Given the description of an element on the screen output the (x, y) to click on. 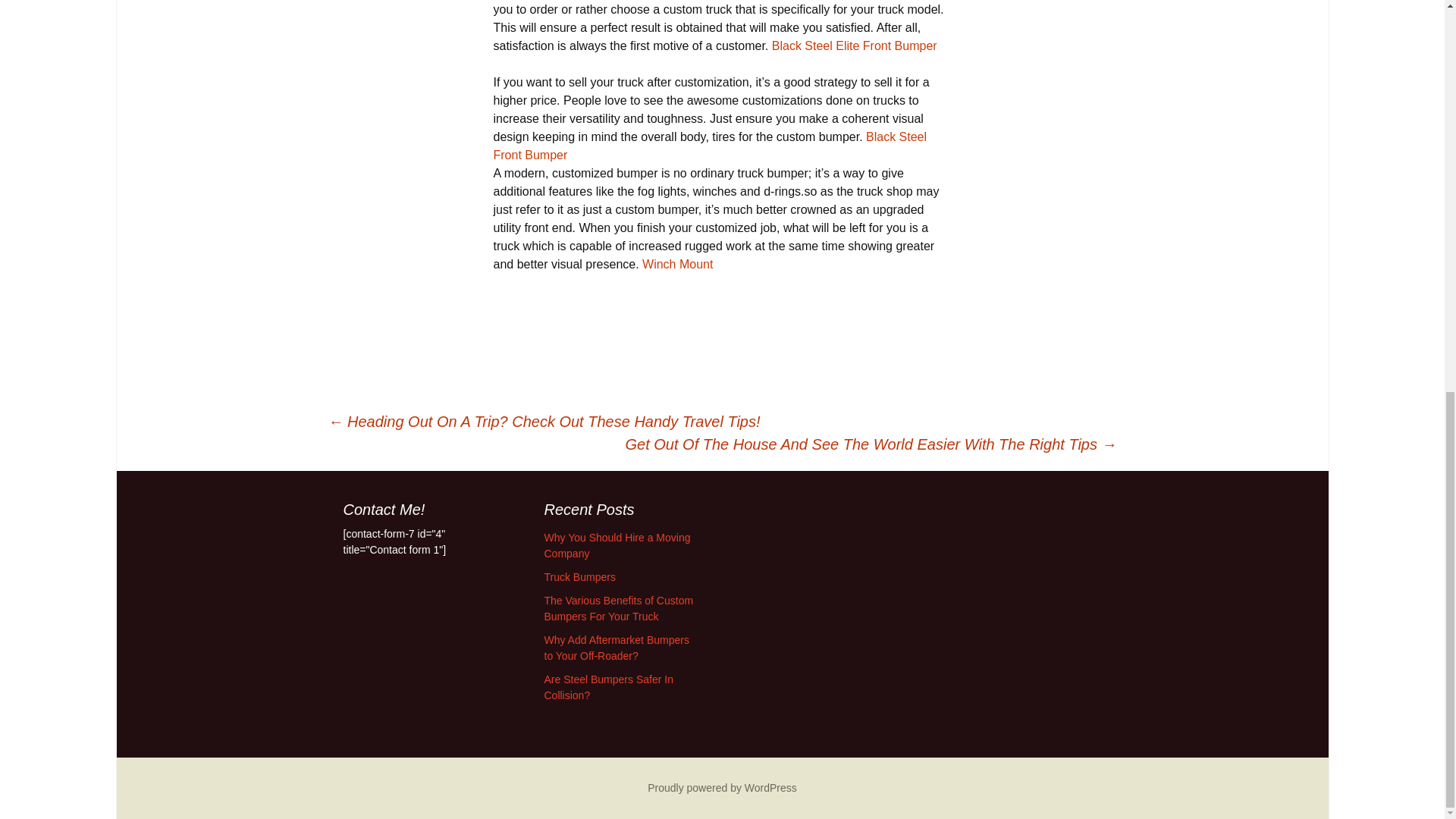
Why Add Aftermarket Bumpers to Your Off-Roader? (616, 647)
Why You Should Hire a Moving Company (617, 545)
Black Steel Elite Front Bumper (854, 45)
The Various Benefits of Custom Bumpers For Your Truck (619, 608)
Winch Mount (677, 264)
Are Steel Bumpers Safer In Collision? (608, 687)
Truck Bumpers (579, 576)
Proudly powered by WordPress (721, 787)
Black Steel Front Bumper (709, 145)
